Given the description of an element on the screen output the (x, y) to click on. 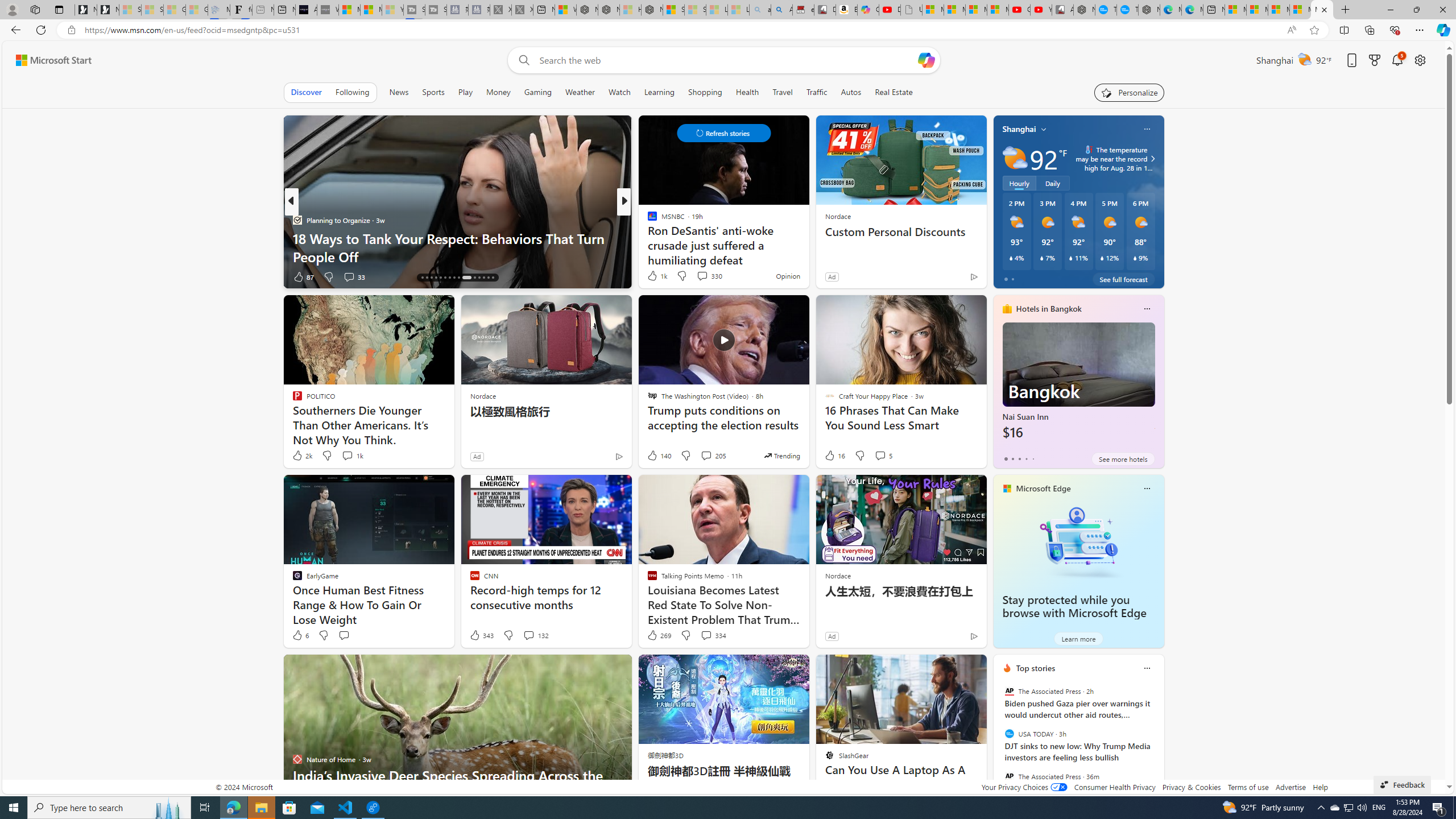
Streaming Coverage | T3 - Sleeping (413, 9)
Money (497, 92)
8 Like (651, 276)
View comments 353 Comment (6, 276)
LGBTQ Nation (647, 219)
Discover (306, 92)
Browser essentials (1394, 29)
Advertise (1290, 786)
View comments 266 Comment (703, 276)
News (398, 92)
Nai Suan Inn (1077, 385)
